Given the description of an element on the screen output the (x, y) to click on. 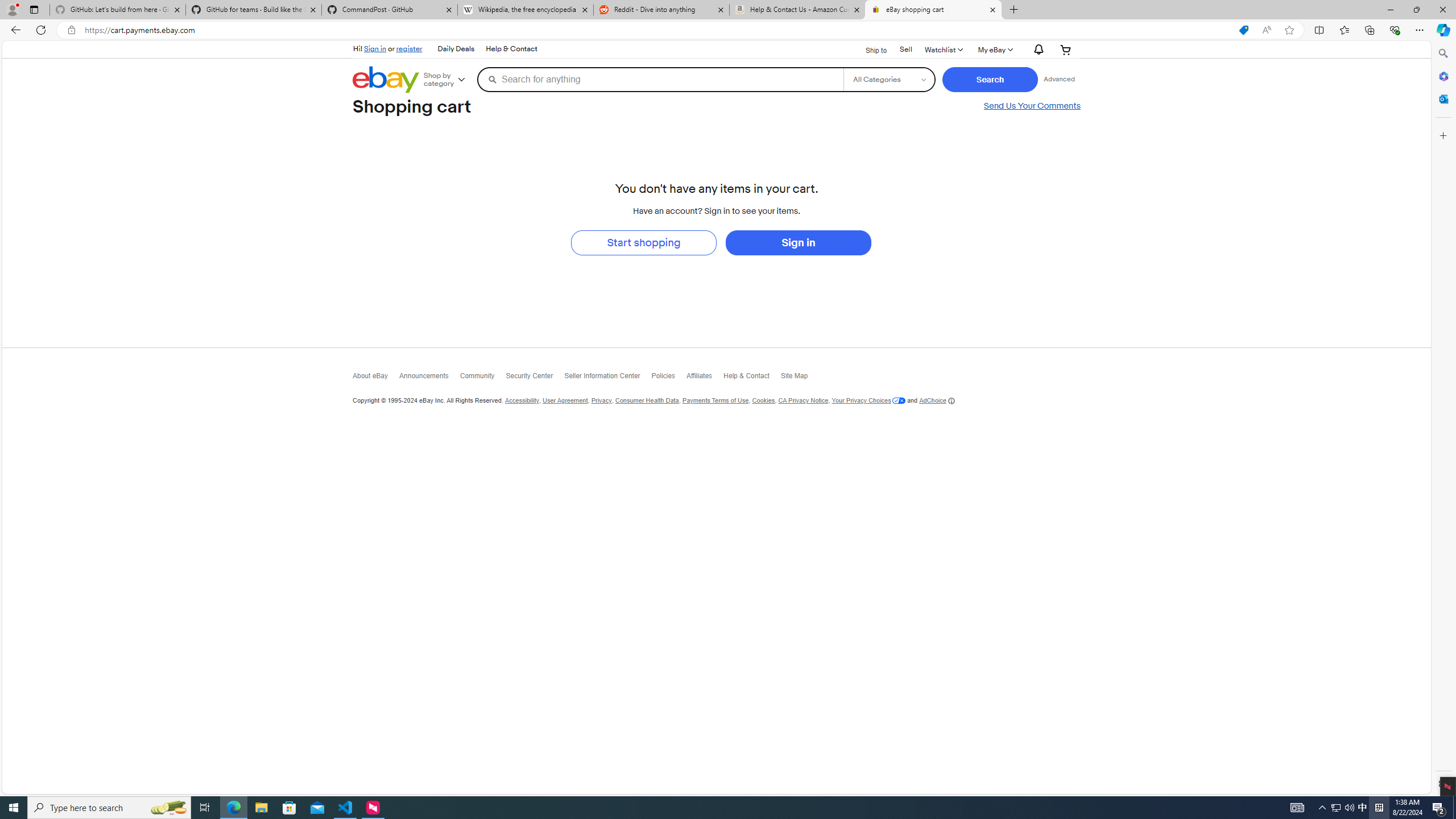
eBay Home (385, 79)
Affiliates (704, 377)
Shopping in Microsoft Edge (1243, 29)
Help & Contact (751, 378)
Sell (905, 49)
My eBayExpand My eBay (994, 49)
register (409, 48)
Side bar (1443, 418)
Sign in (374, 48)
App bar (728, 29)
Site Map (799, 377)
Privacy (601, 400)
